Given the description of an element on the screen output the (x, y) to click on. 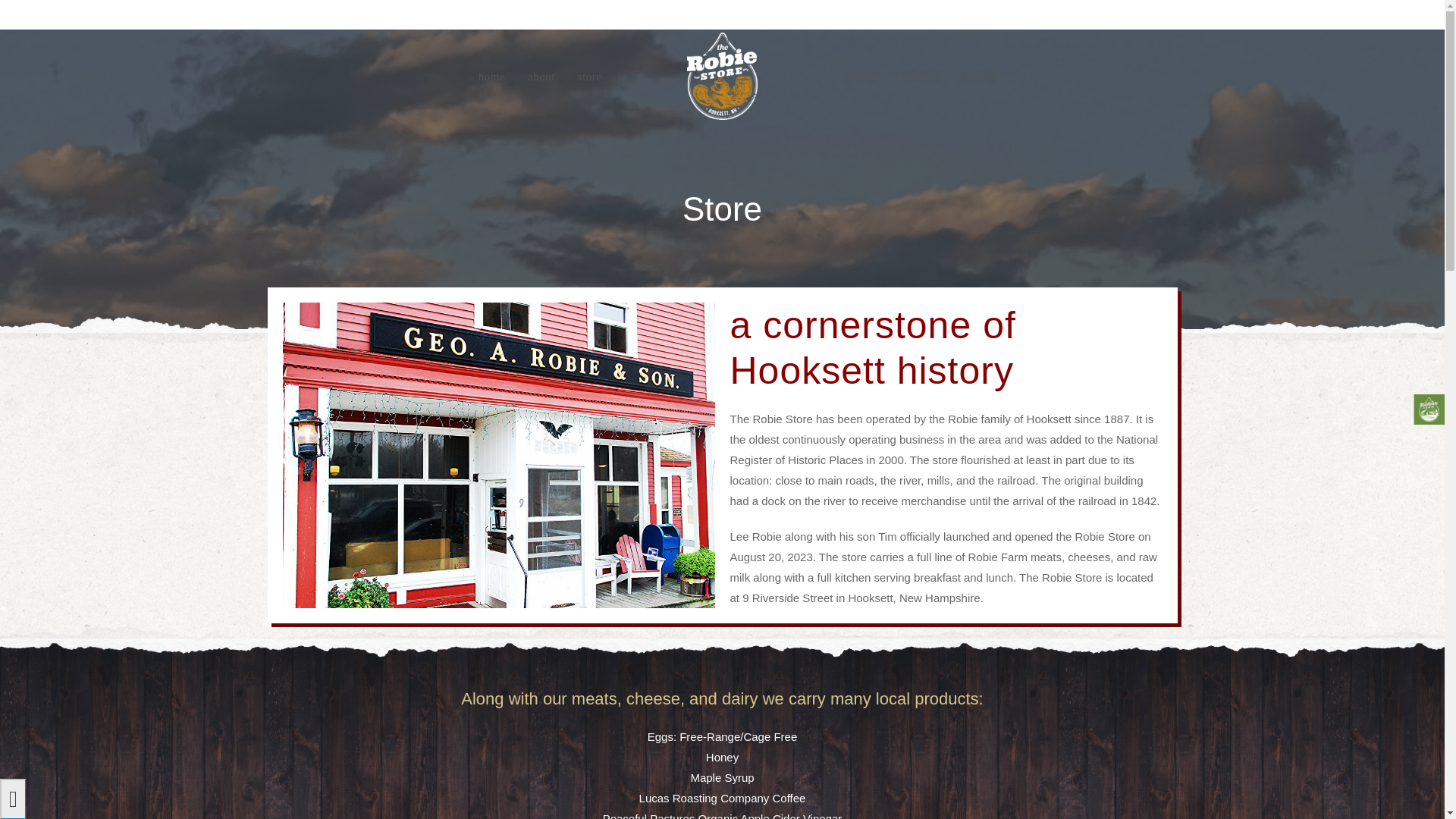
about (541, 76)
kitchen (920, 76)
Store 1 (498, 455)
store (589, 76)
9 Riverside Street, Hooksett, NH 03106 (599, 13)
home (491, 76)
contact (979, 76)
butcher (860, 76)
Email Us (831, 13)
